Given the description of an element on the screen output the (x, y) to click on. 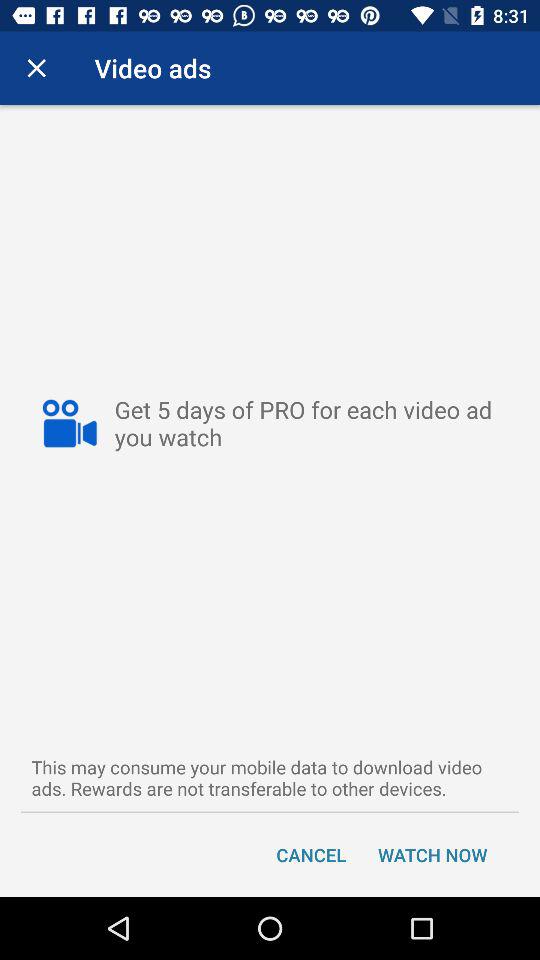
click item to the left of the watch now (311, 854)
